Given the description of an element on the screen output the (x, y) to click on. 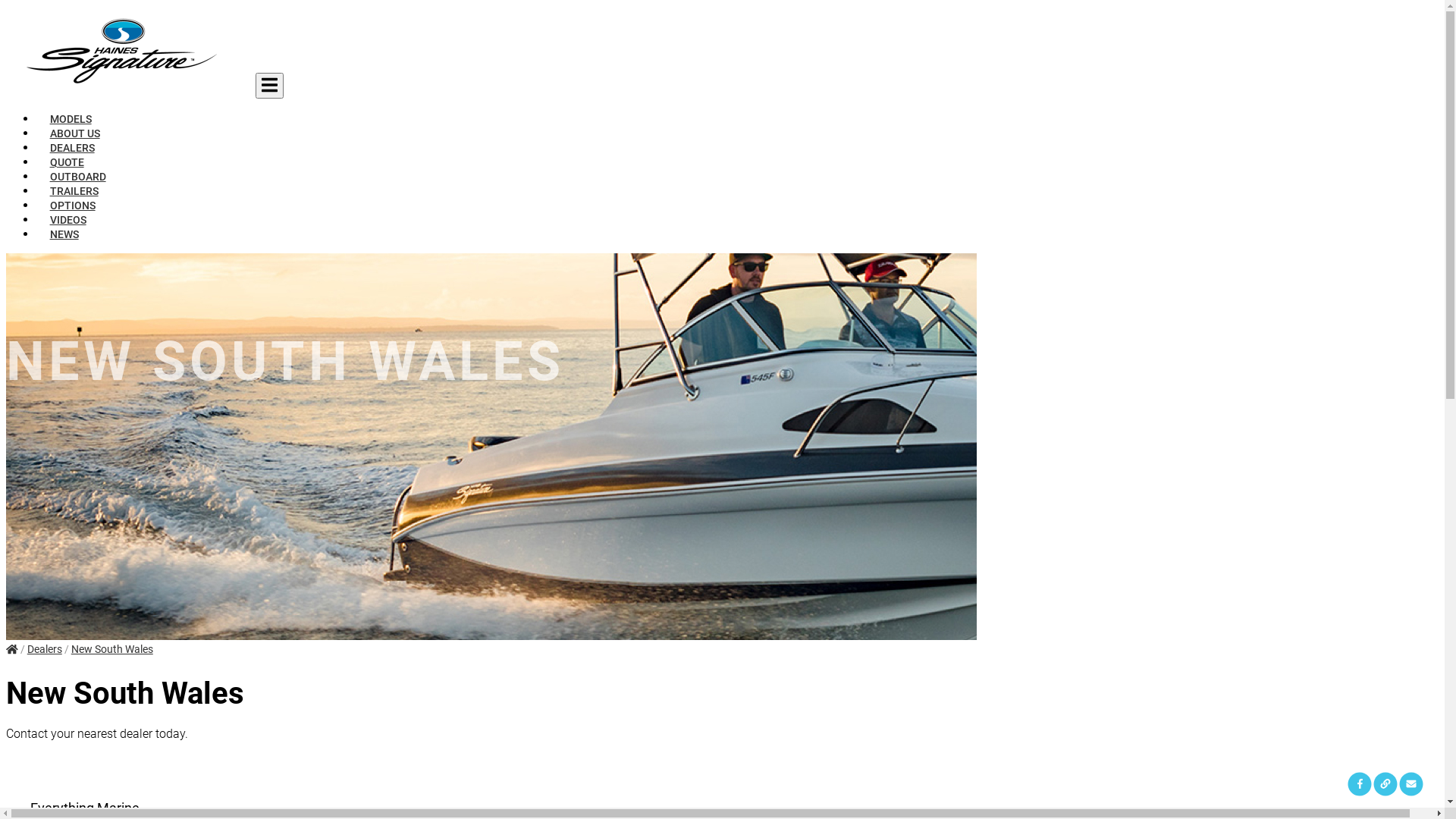
MODELS Element type: text (70, 118)
DEALERS Element type: text (71, 147)
Dealers Element type: text (44, 649)
New South Wales Element type: text (112, 649)
QUOTE Element type: text (66, 162)
OPTIONS Element type: text (72, 205)
VIDEOS Element type: text (67, 219)
ABOUT US Element type: text (74, 133)
NEWS Element type: text (63, 234)
OUTBOARD Element type: text (77, 176)
TRAILERS Element type: text (73, 190)
